Given the description of an element on the screen output the (x, y) to click on. 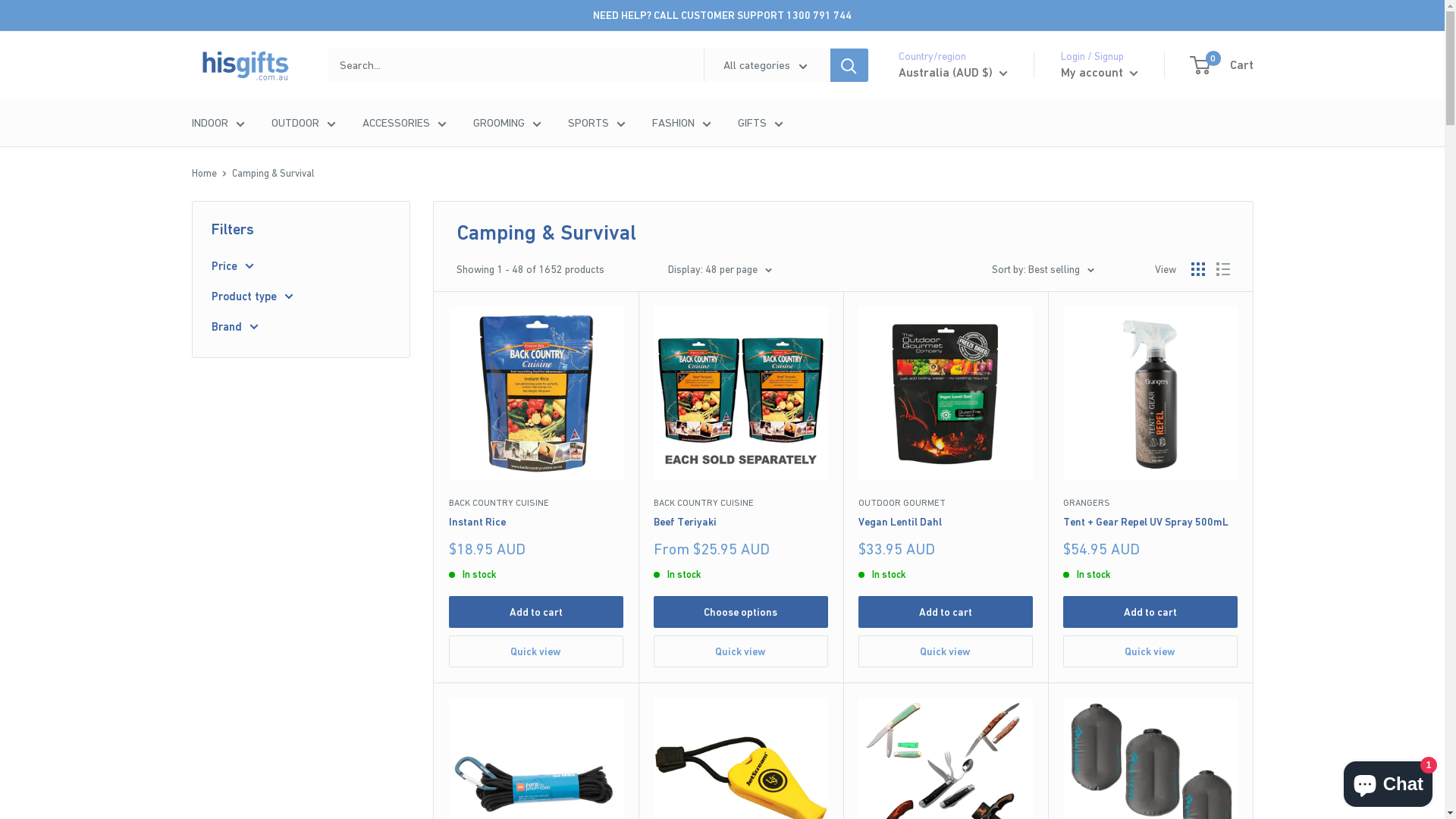
Quick view Element type: text (945, 651)
FJ Element type: text (933, 428)
CZ Element type: text (933, 362)
DK Element type: text (933, 384)
IL Element type: text (933, 624)
MY Element type: text (933, 755)
LT Element type: text (933, 711)
Quick view Element type: text (535, 651)
Choose options Element type: text (740, 611)
EE Element type: text (933, 406)
Brand Element type: text (299, 326)
Price Element type: text (299, 265)
Add to cart Element type: text (535, 611)
Shopify online store chat Element type: hover (1388, 780)
MX Element type: text (933, 799)
BACK COUNTRY CUISINE Element type: text (740, 502)
IE Element type: text (933, 602)
IN Element type: text (933, 580)
LU Element type: text (933, 733)
FASHION Element type: text (681, 122)
BY Element type: text (933, 165)
AT Element type: text (933, 143)
Product type Element type: text (299, 296)
Australia (AUD $) Element type: text (952, 72)
HU Element type: text (933, 559)
0
Cart Element type: text (1221, 64)
HR Element type: text (933, 318)
BE Element type: text (933, 187)
GRANGERS Element type: text (1150, 502)
Display: 48 per page Element type: text (719, 269)
Quick view Element type: text (740, 651)
Instant Rice Element type: text (535, 522)
Home Element type: text (203, 172)
HK Element type: text (933, 537)
SPORTS Element type: text (595, 122)
DE Element type: text (933, 493)
My account Element type: text (1098, 72)
Tent + Gear Repel UV Spray 500mL Element type: text (1150, 522)
Beef Teriyaki Element type: text (740, 522)
INDOOR Element type: text (217, 122)
BG Element type: text (933, 231)
BQ Element type: text (933, 275)
CA Element type: text (933, 253)
His Gifts Element type: text (244, 65)
MT Element type: text (933, 777)
BR Element type: text (933, 209)
FI Element type: text (933, 449)
GIFTS Element type: text (759, 122)
NEED HELP? CALL CUSTOMER SUPPORT 1300 791 744 Element type: text (722, 15)
Add to cart Element type: text (945, 611)
Vegan Lentil Dahl Element type: text (945, 522)
OUTDOOR Element type: text (303, 122)
OUTDOOR GOURMET Element type: text (945, 502)
Sort by: Best selling Element type: text (1042, 269)
AU Element type: text (933, 121)
GROOMING Element type: text (507, 122)
Quick view Element type: text (1150, 651)
ACCESSORIES Element type: text (404, 122)
CN Element type: text (933, 296)
IT Element type: text (933, 646)
BACK COUNTRY CUISINE Element type: text (535, 502)
Add to cart Element type: text (1150, 611)
LV Element type: text (933, 690)
CY Element type: text (933, 340)
Camping & Survival Element type: text (272, 172)
FR Element type: text (933, 471)
GR Element type: text (933, 515)
JP Element type: text (933, 668)
